Given the description of an element on the screen output the (x, y) to click on. 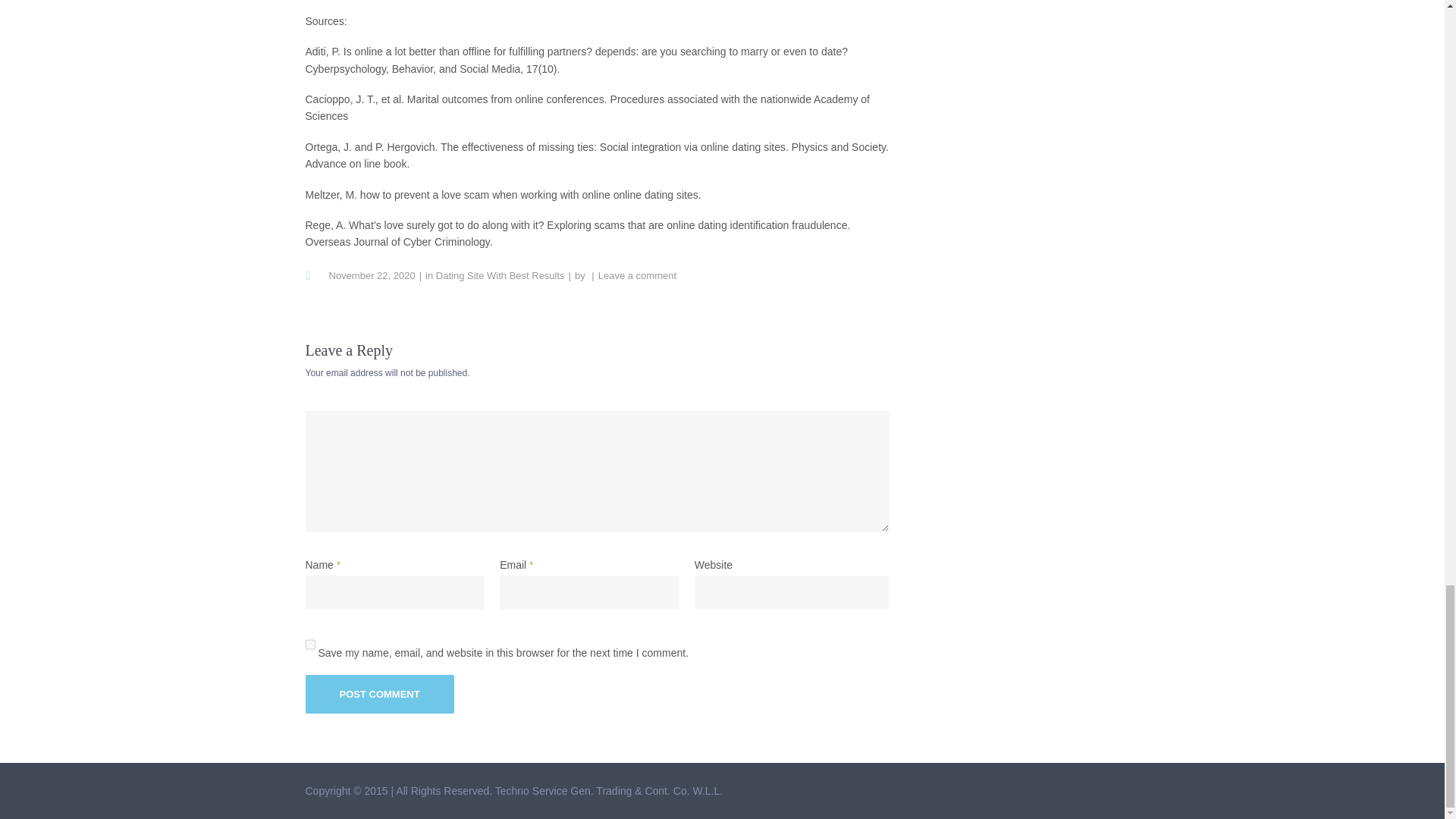
Post Comment (378, 693)
